Given the description of an element on the screen output the (x, y) to click on. 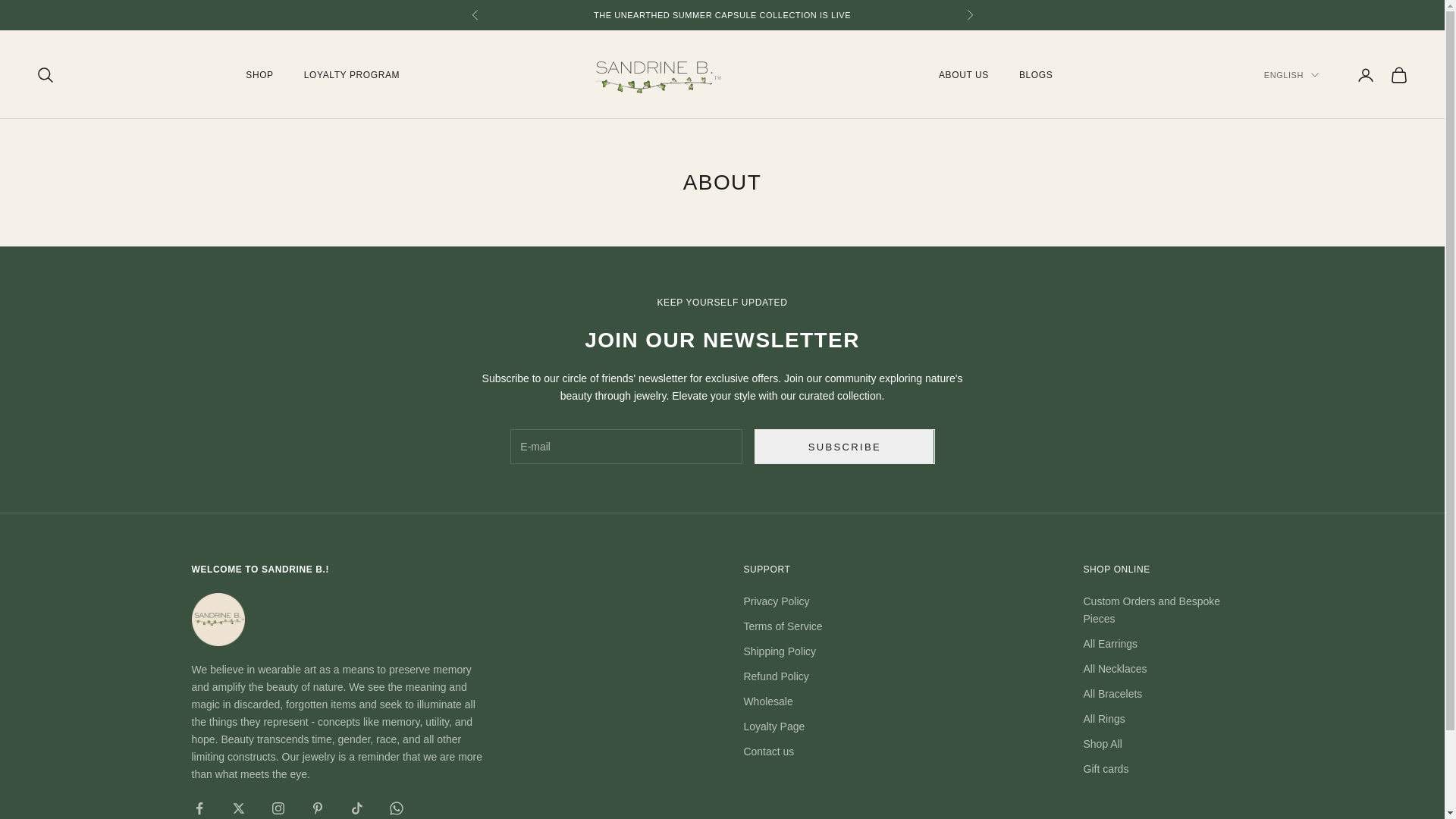
Open account page (1365, 75)
ABOUT US (963, 74)
Sandrine B. (658, 74)
BLOGS (1035, 74)
Open search (45, 75)
ENGLISH (1291, 74)
LOYALTY PROGRAM (351, 74)
